Given the description of an element on the screen output the (x, y) to click on. 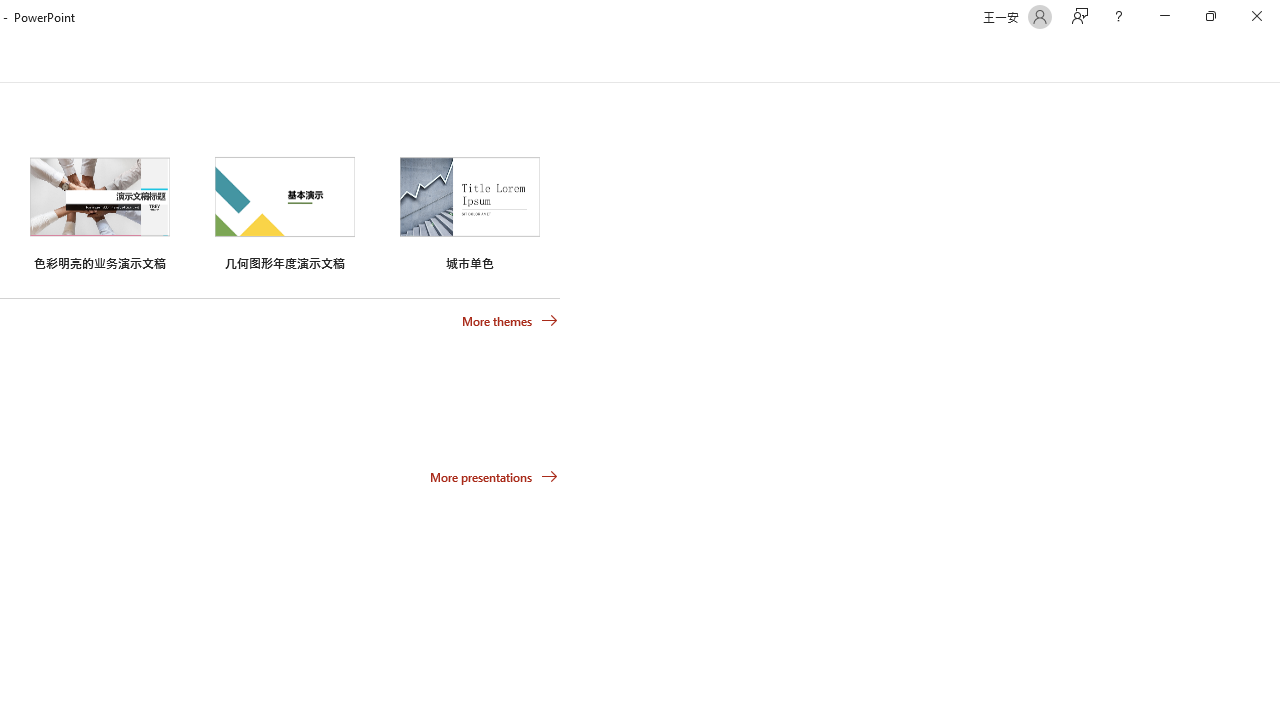
More presentations (493, 476)
Class: NetUIScrollBar (1271, 59)
More themes (509, 321)
